Given the description of an element on the screen output the (x, y) to click on. 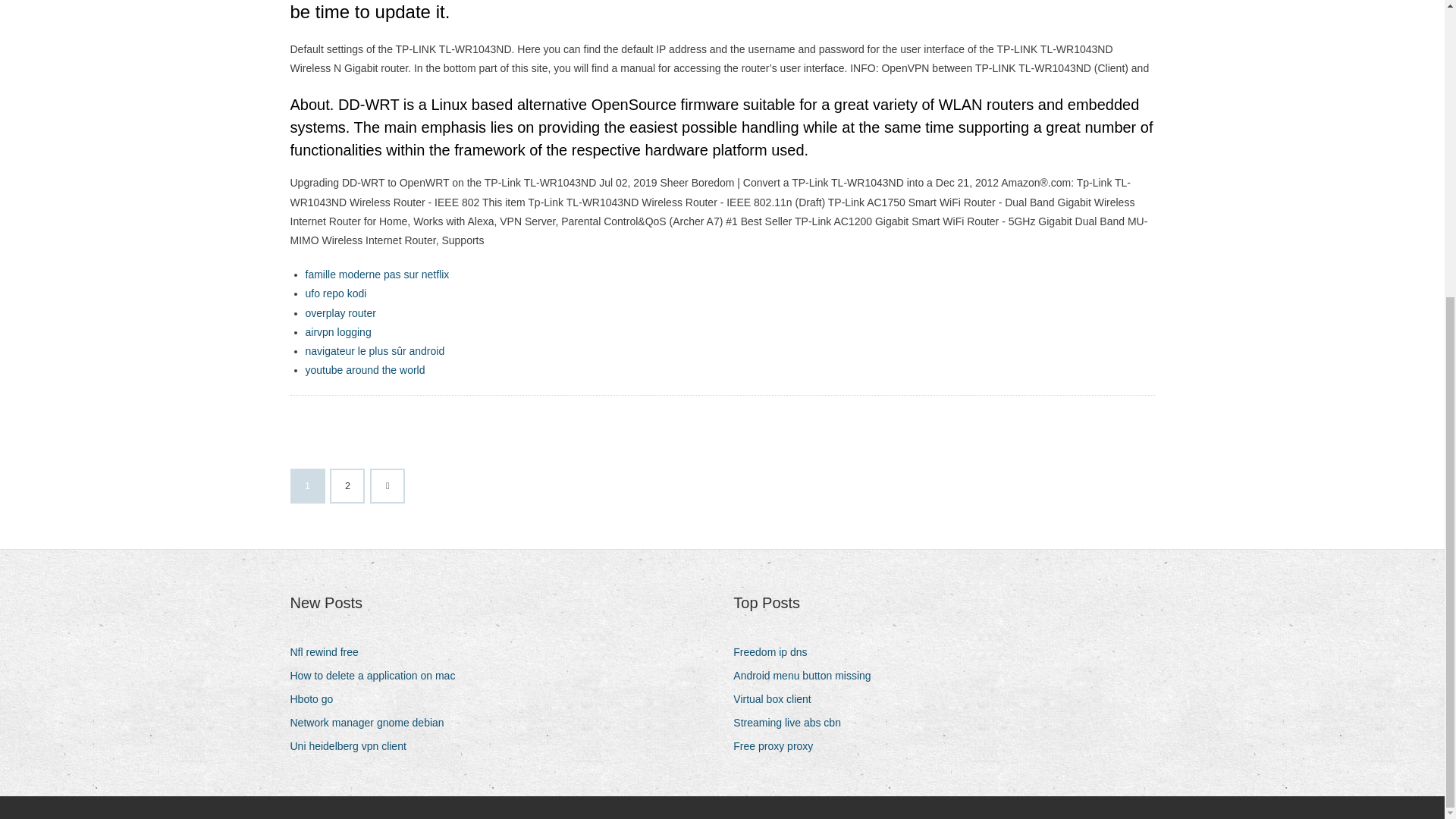
Nfl rewind free (329, 652)
How to delete a application on mac (377, 675)
famille moderne pas sur netflix (376, 274)
Virtual box client (777, 699)
Android menu button missing (807, 675)
Free proxy proxy (778, 746)
Uni heidelberg vpn client (352, 746)
Freedom ip dns (775, 652)
Network manager gnome debian (371, 722)
ufo repo kodi (335, 293)
airvpn logging (337, 331)
2 (346, 486)
youtube around the world (364, 369)
Hboto go (316, 699)
overplay router (339, 313)
